Given the description of an element on the screen output the (x, y) to click on. 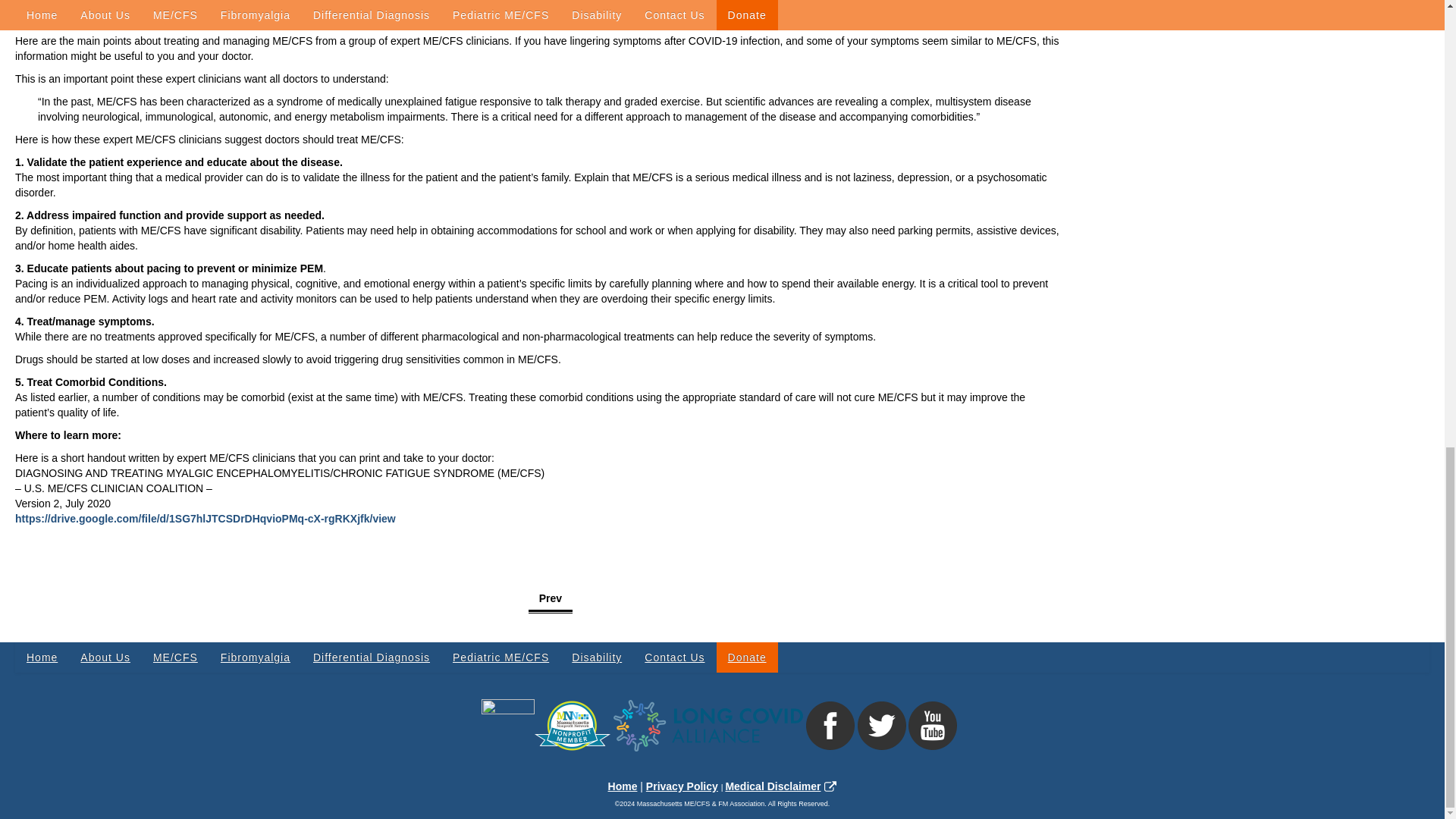
Fibromyalgia (255, 657)
About Us (104, 657)
Disability (596, 657)
Home (41, 657)
Donate (746, 657)
Contact Us (674, 657)
Prev (550, 599)
Differential Diagnosis (371, 657)
